Given the description of an element on the screen output the (x, y) to click on. 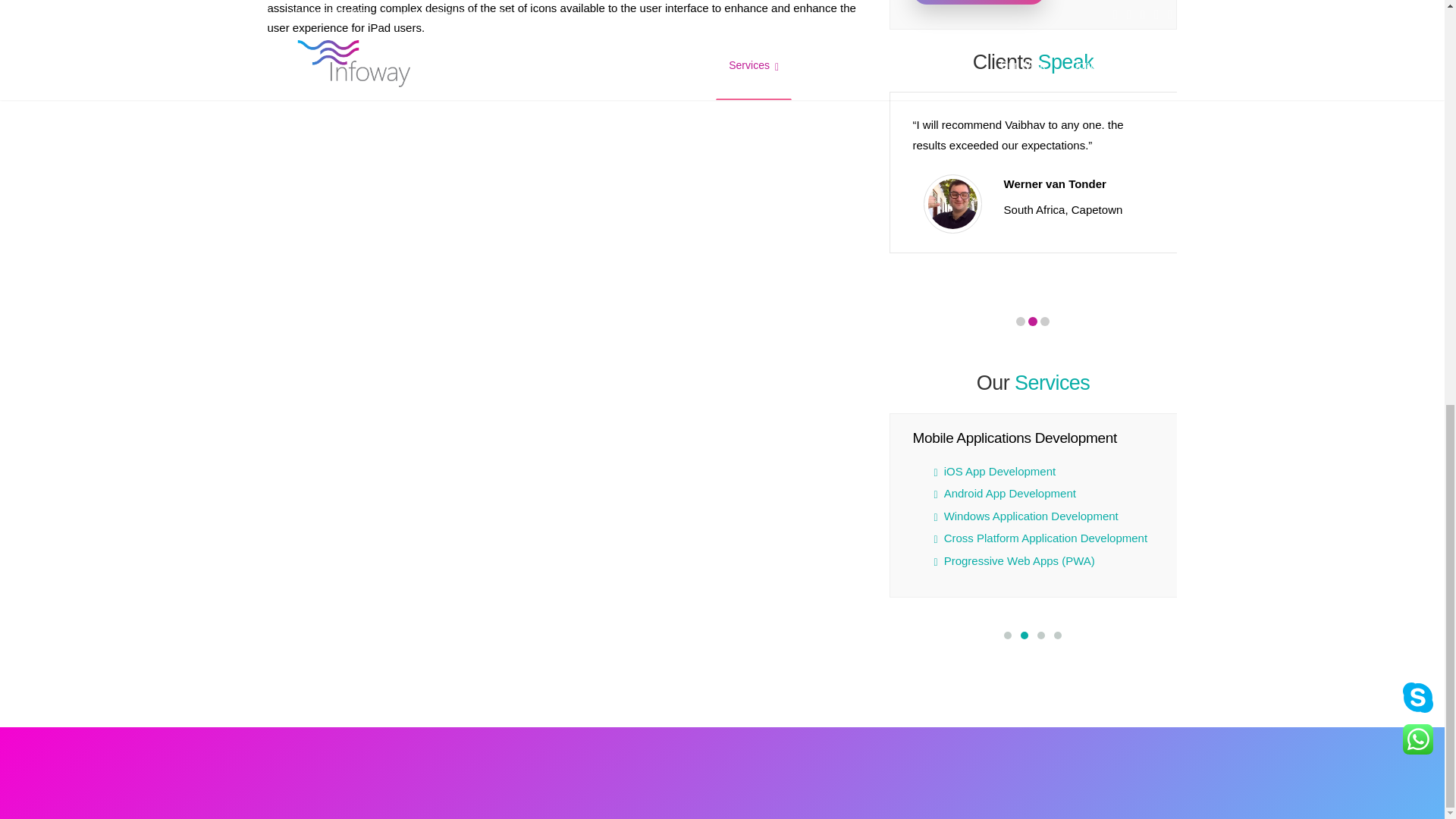
Werner van Tonder (952, 203)
Submit Inquiry (978, 2)
